Given the description of an element on the screen output the (x, y) to click on. 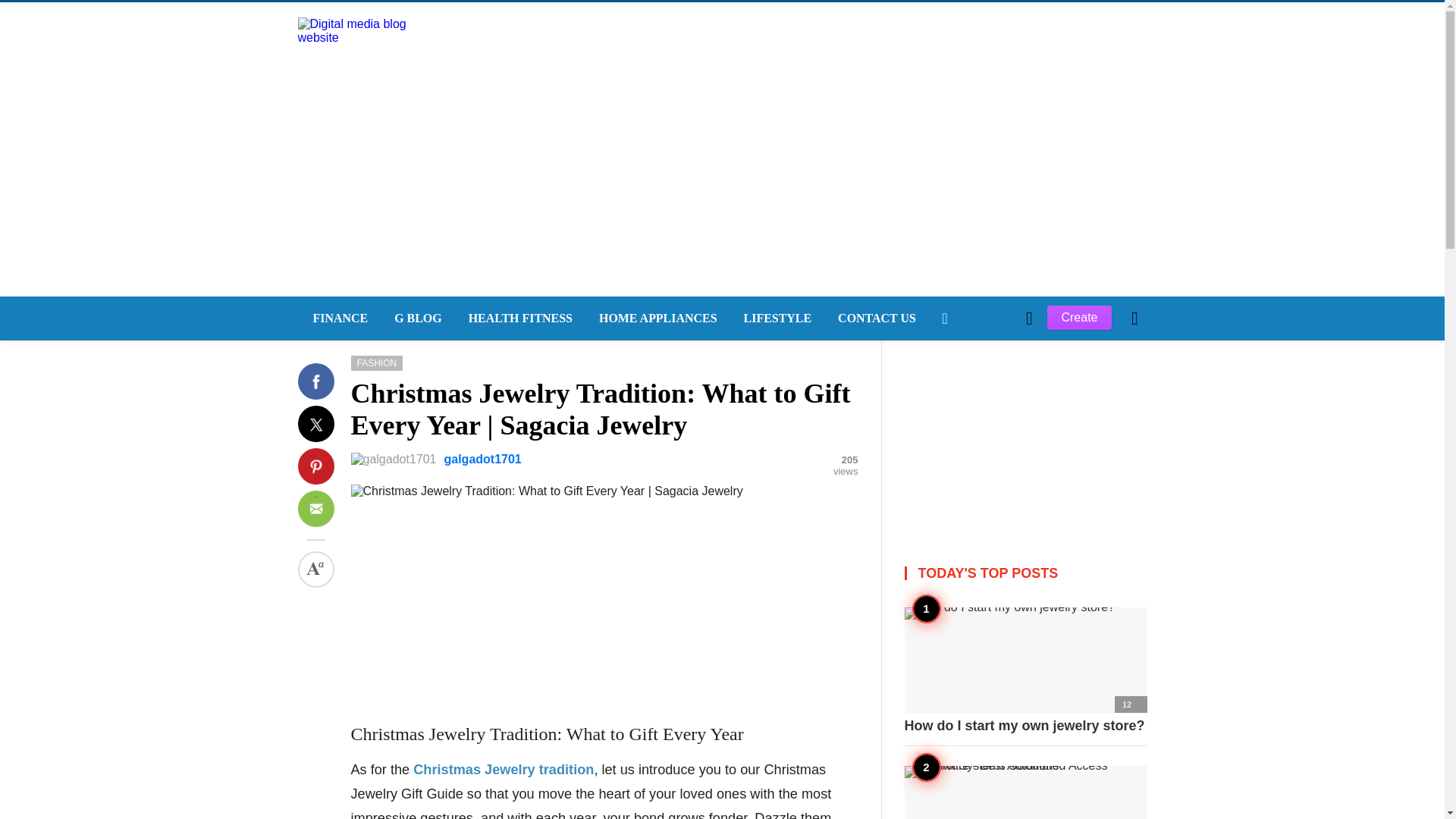
How do I start my own jewelry store? (1025, 670)
Advertisement (603, 603)
Advertisement (1025, 434)
sign up (964, 575)
HEALTH FITNESS (517, 318)
CONTACT US (874, 318)
Log in (962, 575)
G BLOG (415, 318)
FINANCE (337, 318)
